Given the description of an element on the screen output the (x, y) to click on. 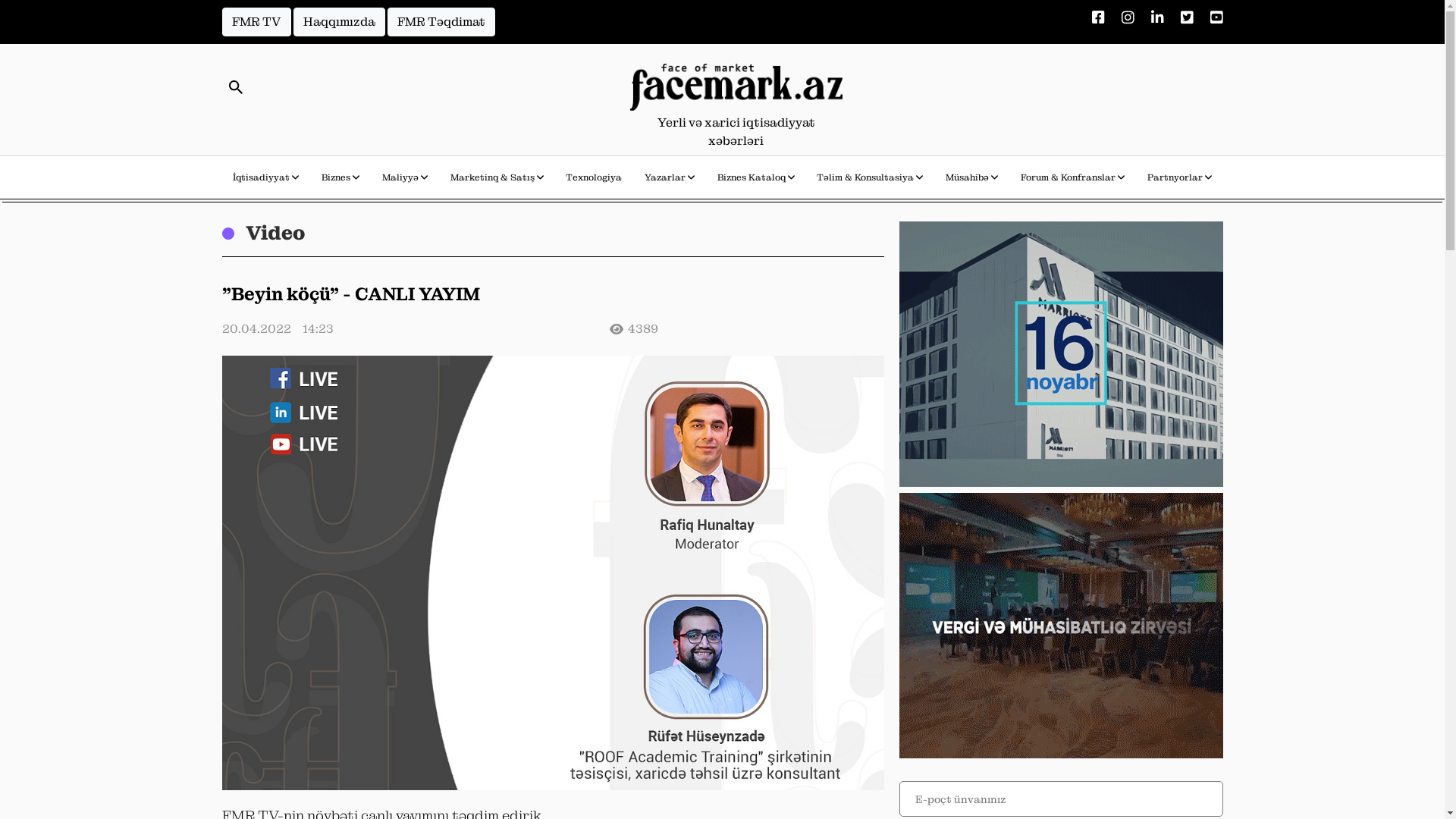
Texnologiya Element type: text (593, 181)
Biznes Kataloq Element type: text (755, 181)
FMR TV Element type: text (255, 21)
Partnyorlar Element type: text (1179, 181)
Yazarlar Element type: text (669, 181)
Biznes Element type: text (340, 181)
Forum & Konfranslar Element type: text (1072, 181)
